Given the description of an element on the screen output the (x, y) to click on. 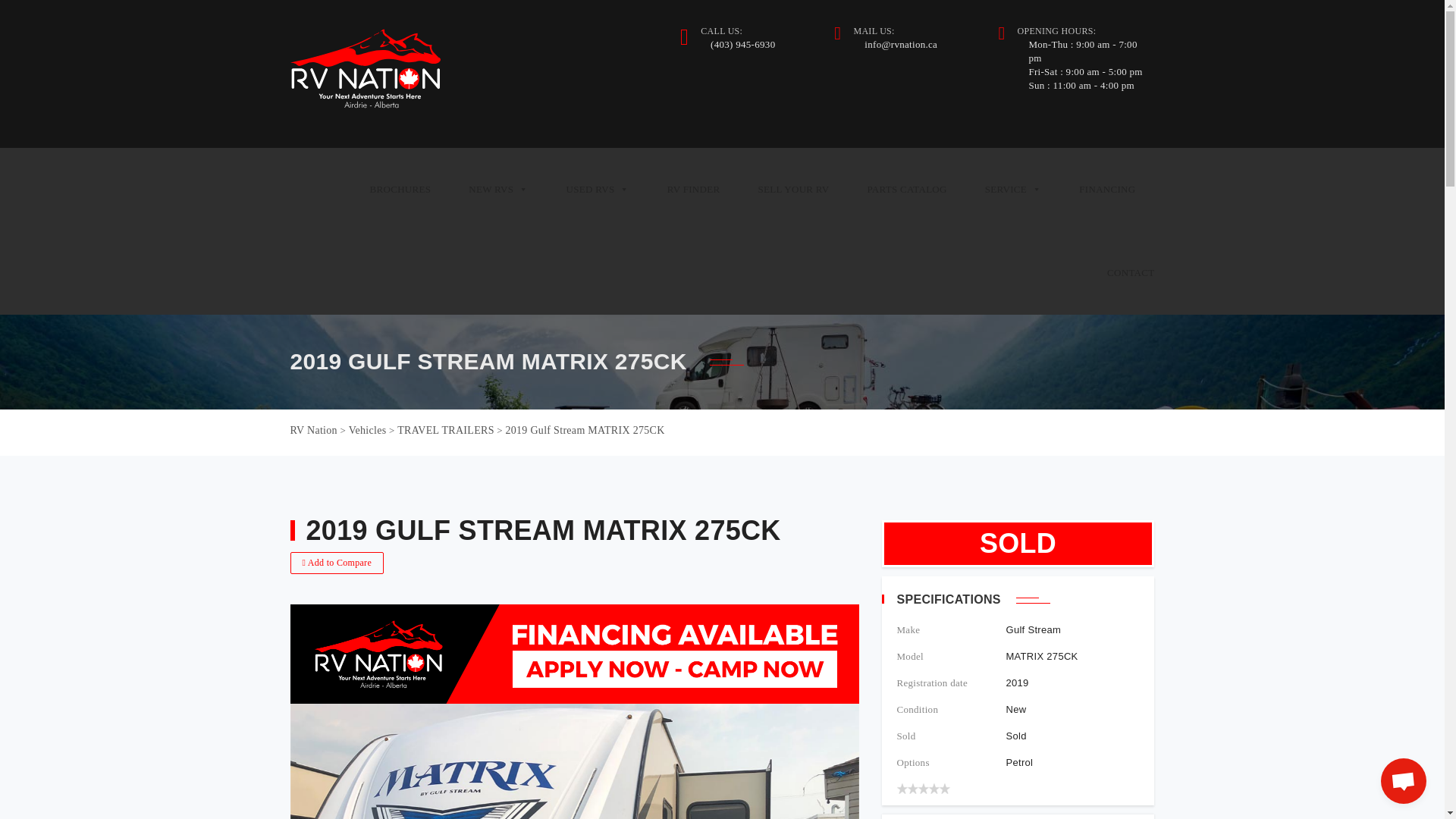
BROCHURES (399, 189)
TRAVEL TRAILERS (446, 430)
SELL YOUR RV (792, 189)
Go to Vehicles. (368, 430)
RV FINDER (693, 189)
SERVICE (1013, 189)
Go to RV Nation. (312, 430)
Vehicles (368, 430)
RV Nation (365, 73)
RV Nation (312, 430)
Go to the TRAVEL TRAILERS Vehicle Type archives. (446, 430)
PARTS CATALOG (906, 189)
FINANCING (1106, 189)
USED RVS (597, 189)
NEW RVS (498, 189)
